Given the description of an element on the screen output the (x, y) to click on. 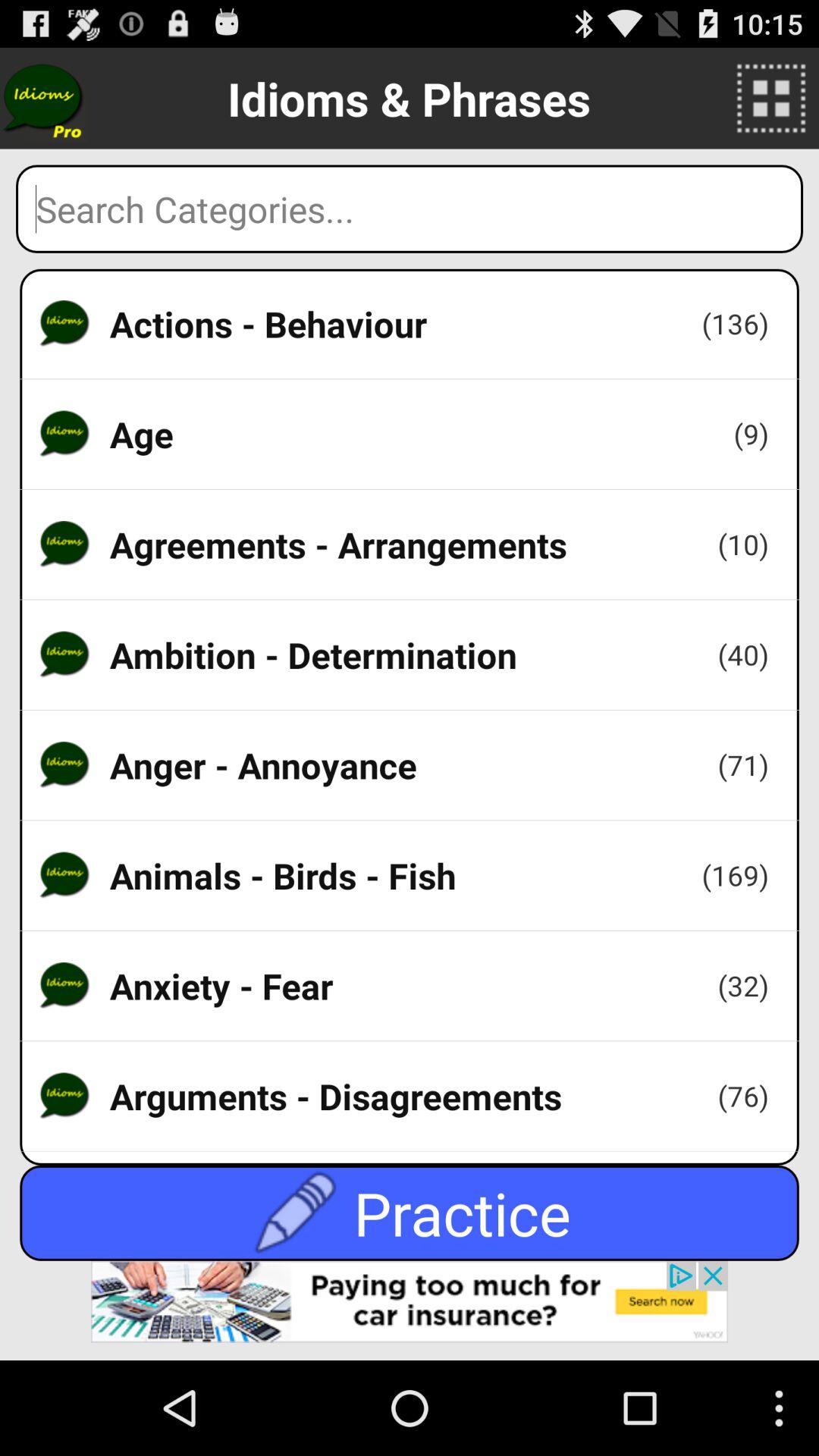
buy pro (43, 98)
